Given the description of an element on the screen output the (x, y) to click on. 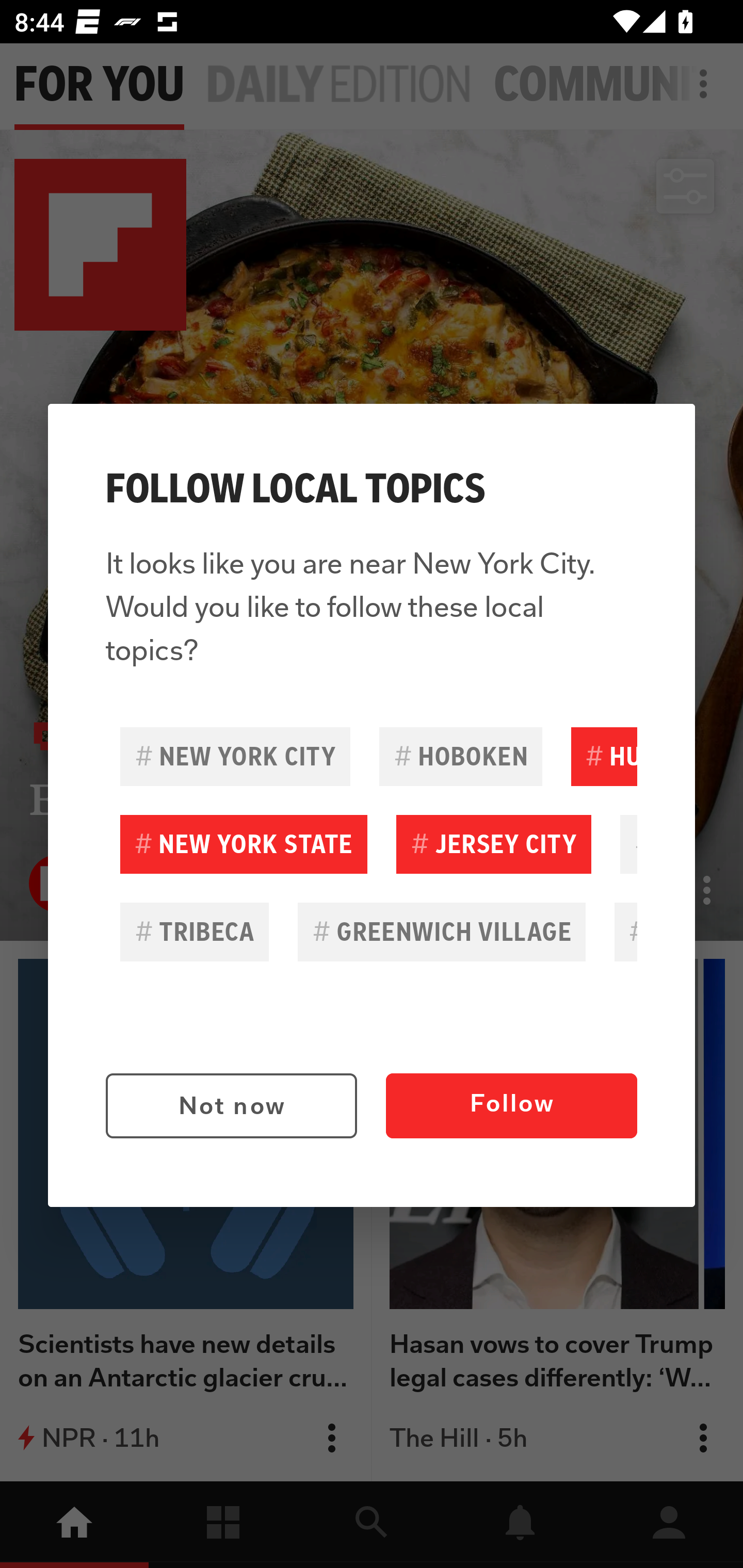
# NEW YORK CITY (235, 756)
# HOBOKEN (460, 756)
# NEW YORK STATE (243, 844)
# JERSEY CITY (493, 844)
# TRIBECA (194, 932)
# GREENWICH VILLAGE (441, 932)
Not now (231, 1106)
Follow (511, 1106)
